Given the description of an element on the screen output the (x, y) to click on. 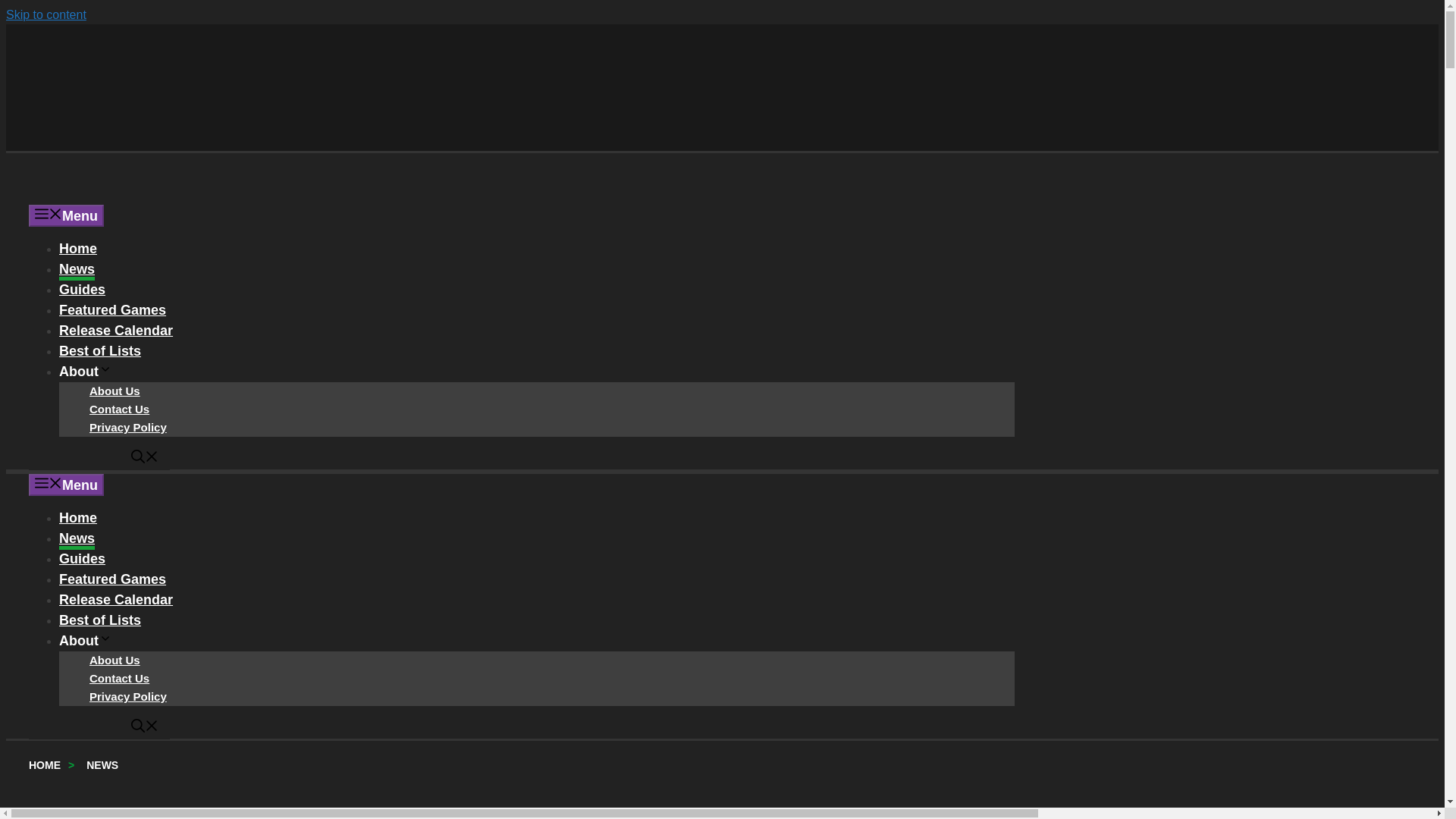
Skip to content (45, 14)
About (85, 373)
Guides (81, 560)
Home (78, 250)
Featured Games (112, 311)
NEWS (101, 766)
Casual Gamer (142, 193)
Privacy Policy (127, 698)
Featured Games (112, 580)
Skip to content (45, 14)
Contact Us (118, 679)
Home (78, 519)
Guides (81, 291)
Release Calendar (116, 332)
News (76, 539)
